Given the description of an element on the screen output the (x, y) to click on. 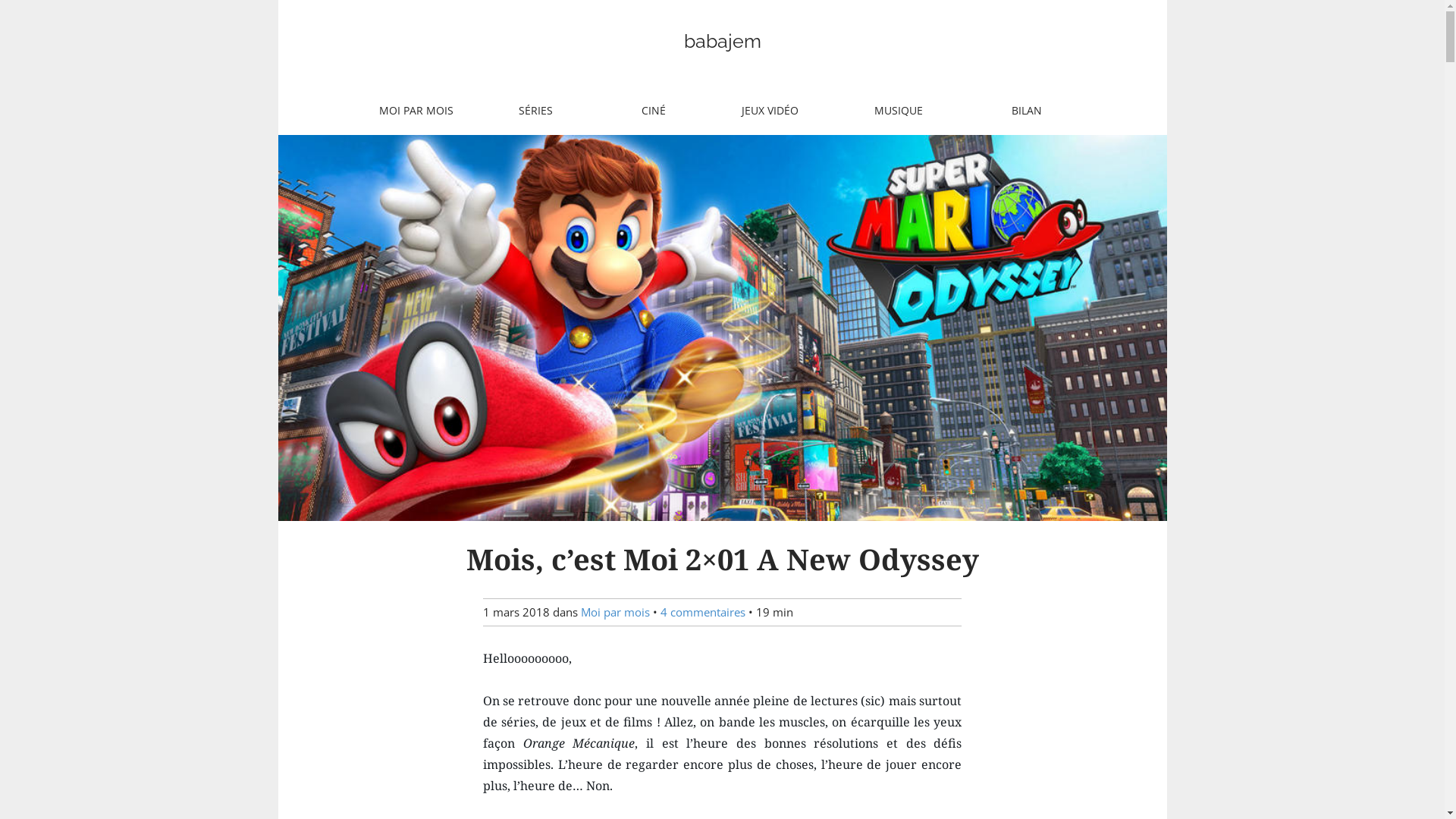
1 mars 2018 Element type: text (516, 611)
babajem Element type: text (722, 40)
Skip to content Element type: text (357, 97)
MUSIQUE Element type: text (897, 110)
4 commentaires Element type: text (702, 611)
BILAN Element type: text (1026, 110)
MOI PAR MOIS Element type: text (415, 110)
Moi par mois Element type: text (614, 611)
